Given the description of an element on the screen output the (x, y) to click on. 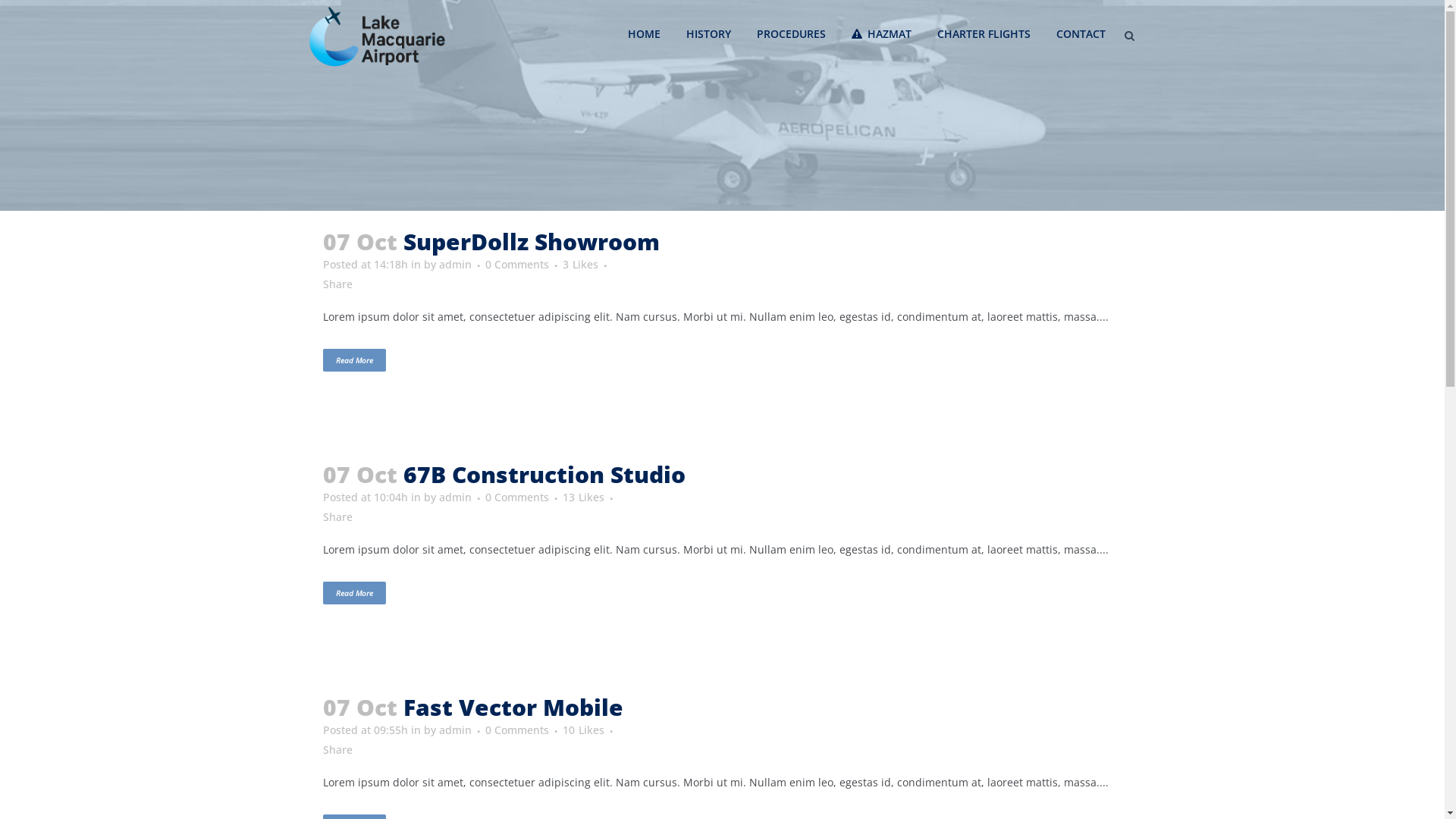
0 Comments Element type: text (517, 729)
Read More Element type: text (354, 592)
HISTORY Element type: text (708, 34)
Share Element type: text (337, 283)
3 Likes Element type: text (580, 264)
13 Likes Element type: text (583, 497)
0 Comments Element type: text (517, 496)
0 Comments Element type: text (517, 264)
CONTACT Element type: text (1080, 34)
Read More Element type: text (354, 359)
67B Construction Studio Element type: text (544, 473)
CHARTER FLIGHTS Element type: text (982, 34)
admin Element type: text (454, 264)
10 Likes Element type: text (583, 729)
SuperDollz Showroom Element type: text (531, 241)
HAZMAT Element type: text (881, 34)
admin Element type: text (454, 729)
HOME Element type: text (643, 34)
Share Element type: text (337, 516)
PROCEDURES Element type: text (790, 34)
admin Element type: text (454, 496)
Share Element type: text (337, 749)
Fast Vector Mobile Element type: text (513, 706)
